Given the description of an element on the screen output the (x, y) to click on. 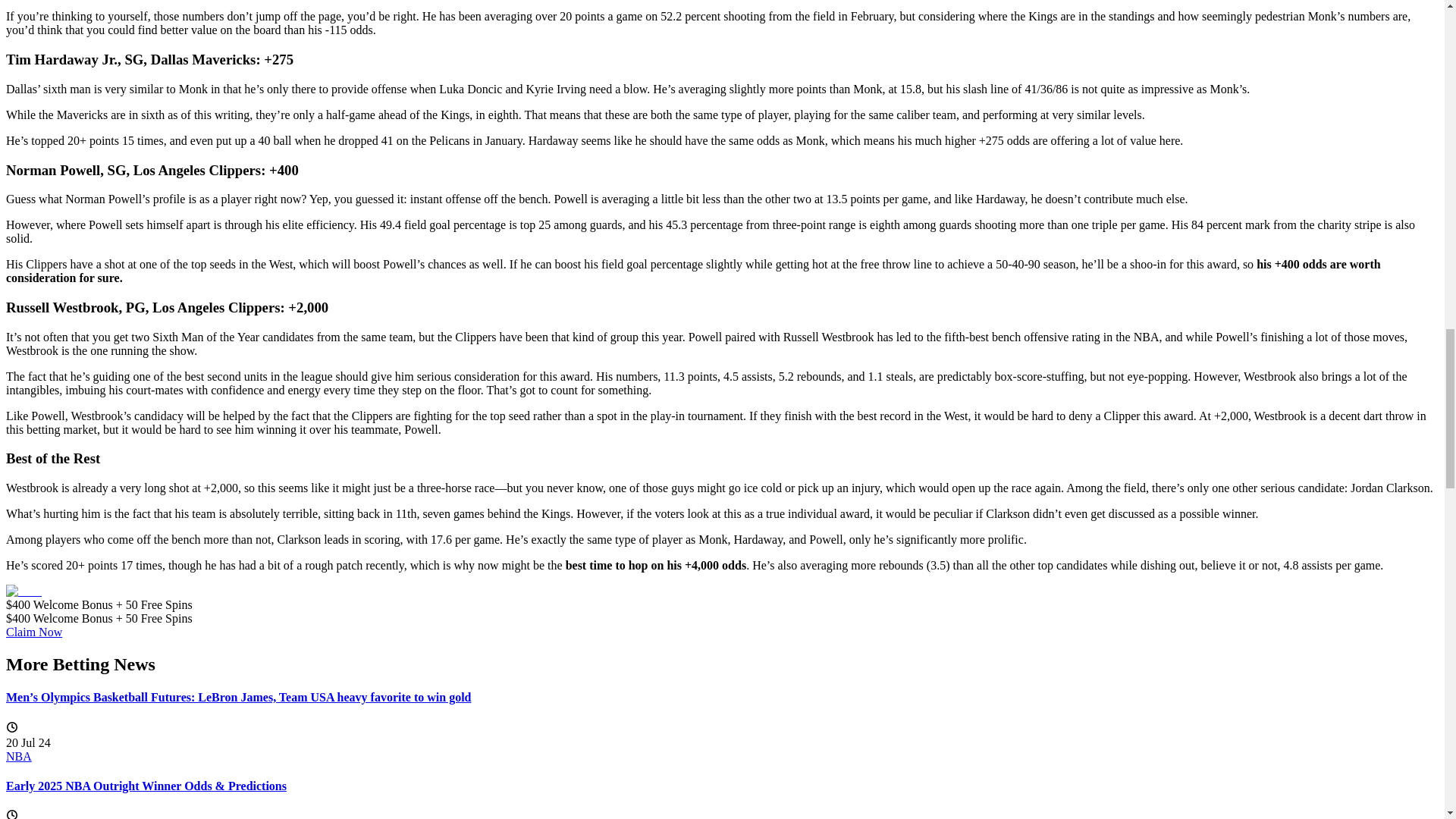
bodog (26, 591)
